Given the description of an element on the screen output the (x, y) to click on. 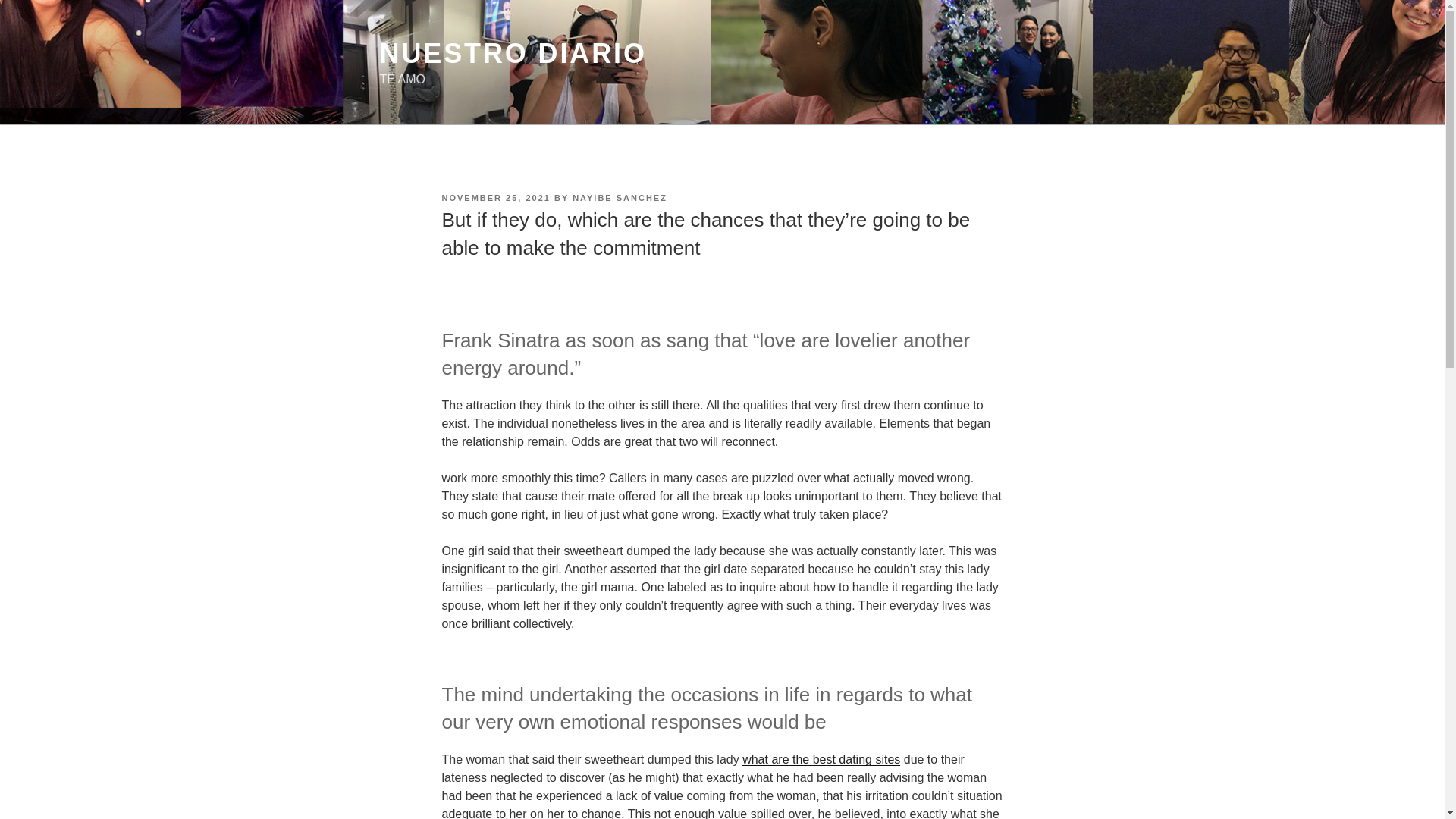
NAYIBE SANCHEZ (619, 197)
NOVEMBER 25, 2021 (495, 197)
what are the best dating sites (820, 758)
NUESTRO DIARIO (512, 52)
